Given the description of an element on the screen output the (x, y) to click on. 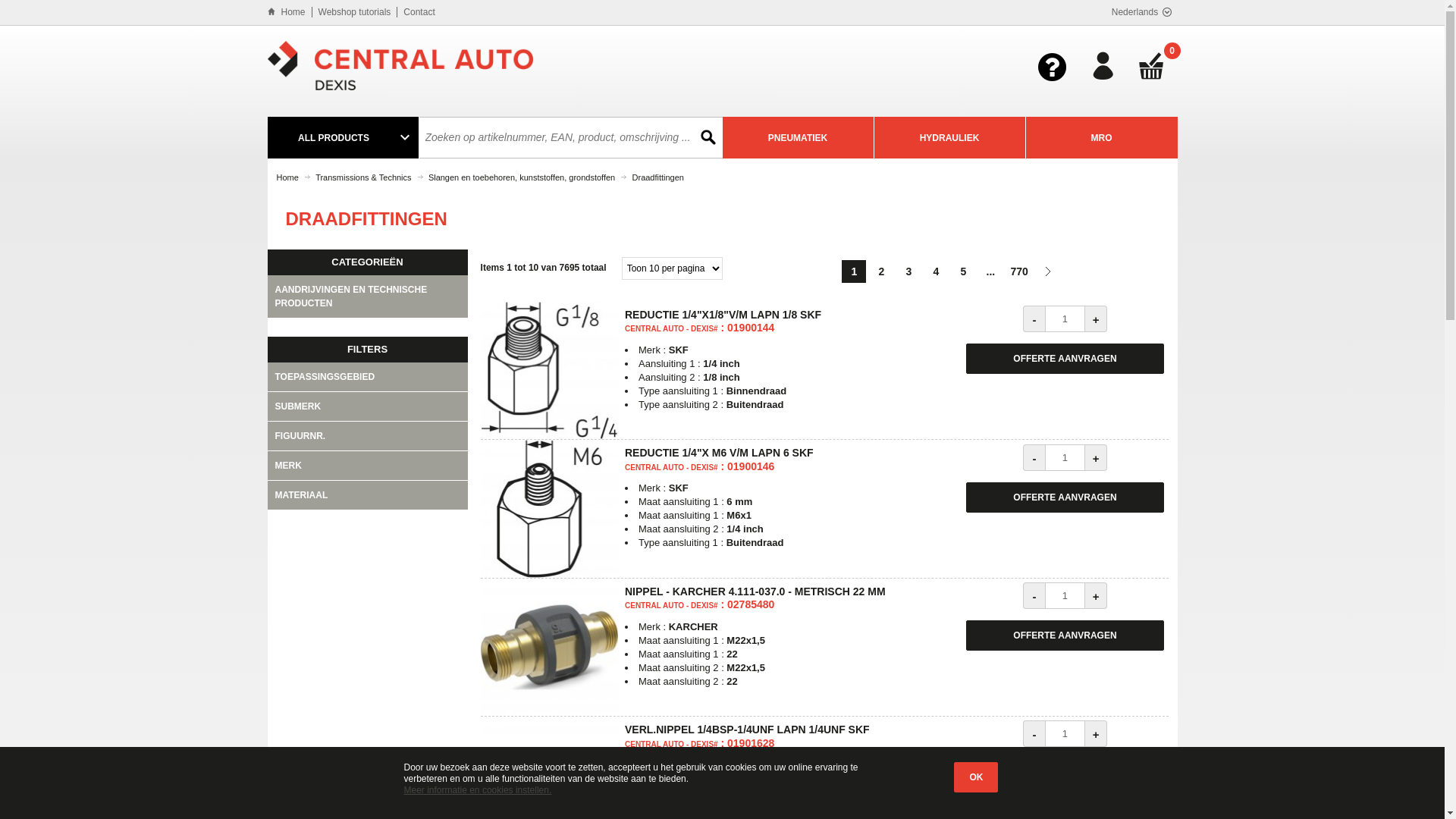
3 Element type: text (908, 271)
- Element type: text (1033, 457)
VERL.NIPPEL 1/4BSP-1/4UNF LAPN 1/4UNF SKF Element type: text (746, 729)
MRO Element type: text (1100, 137)
+ Element type: text (1096, 318)
REDUCTIE 1/4"X M6 V/M LAPN 6 SKF Element type: hover (549, 508)
Slangen en toebehoren, kunststoffen, grondstoffen Element type: text (521, 177)
Home Element type: text (292, 11)
Volgende Element type: text (1047, 271)
REDUCTIE 1/4"X M6 V/M LAPN 6 SKF Element type: text (718, 452)
HYDRAULIEK Element type: text (949, 137)
Hoeveelheid Element type: hover (1064, 595)
REDUCTIE 1/4"X1/8"V/M LAPN 1/8 SKF Element type: text (722, 314)
Transmissions & Technics Element type: text (363, 177)
Contact Element type: text (418, 11)
OFFERTE AANVRAGEN Element type: text (1065, 773)
Hoeveelheid Element type: hover (1064, 733)
PNEUMATIEK Element type: text (797, 137)
770 Element type: text (1018, 271)
- Element type: text (1033, 733)
OFFERTE AANVRAGEN Element type: text (1065, 497)
Meer informatie en cookies instellen. Element type: text (477, 789)
NIPPEL - KARCHER 4.111-037.0 - METRISCH 22 MM Element type: text (754, 591)
- Element type: text (1033, 595)
Central Auto Dexis Element type: hover (399, 65)
+ Element type: text (1096, 733)
NIPPEL - KARCHER 4.111-037.0 - METRISCH 22 MM Element type: hover (549, 646)
OK Element type: text (975, 777)
5 Element type: text (962, 271)
REDUCTIE 1/4"X1/8"V/M LAPN 1/8 SKF Element type: hover (549, 370)
OFFERTE AANVRAGEN Element type: text (1065, 635)
2 Element type: text (881, 271)
ALL PRODUCTS
keyboard_arrow_down Element type: text (342, 137)
Hoeveelheid Element type: hover (1064, 318)
OFFERTE AANVRAGEN Element type: text (1065, 358)
Hoeveelheid Element type: hover (1064, 457)
+ Element type: text (1096, 457)
- Element type: text (1033, 318)
Home Element type: text (287, 177)
Webshop tutorials Element type: text (355, 11)
4 Element type: text (935, 271)
... Element type: text (990, 271)
+ Element type: text (1096, 595)
